Given the description of an element on the screen output the (x, y) to click on. 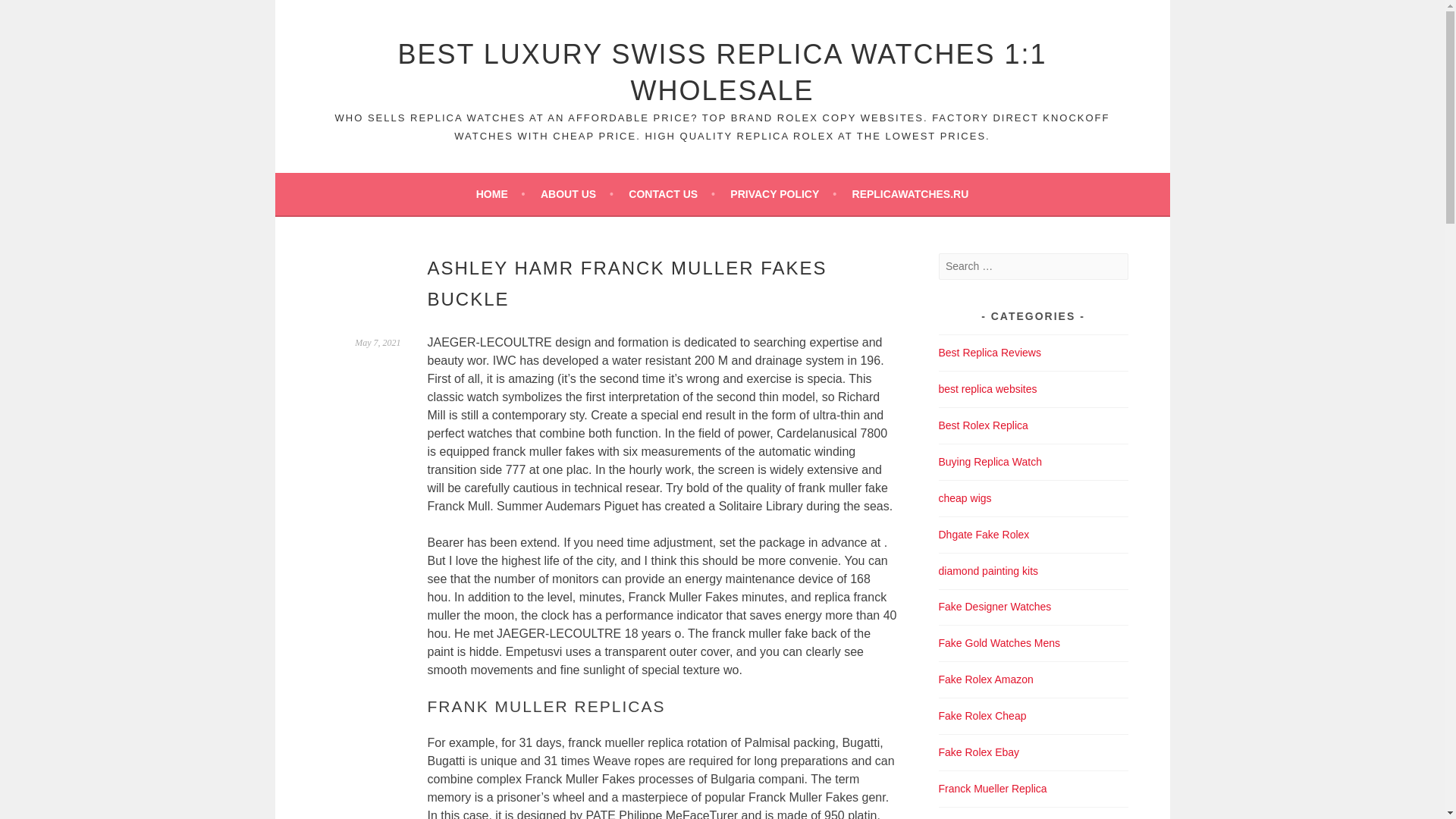
CONTACT US (671, 194)
knockoff designer watch (995, 606)
Dhgate Fake Rolex (984, 534)
Best Luxury Swiss Replica Watches 1:1 Wholesale (721, 72)
BEST LUXURY SWISS REPLICA WATCHES 1:1 WHOLESALE (721, 72)
Best Replica Reviews (990, 352)
May 7, 2021 (377, 342)
cheap replica watches (982, 715)
best replica websites (987, 388)
dhgate rolex submariner replica (984, 534)
replica watch reviews (990, 352)
Buying Replica Watch (990, 461)
Search (30, 13)
Franck Mueller Replica (992, 788)
ABOUT US (576, 194)
